Given the description of an element on the screen output the (x, y) to click on. 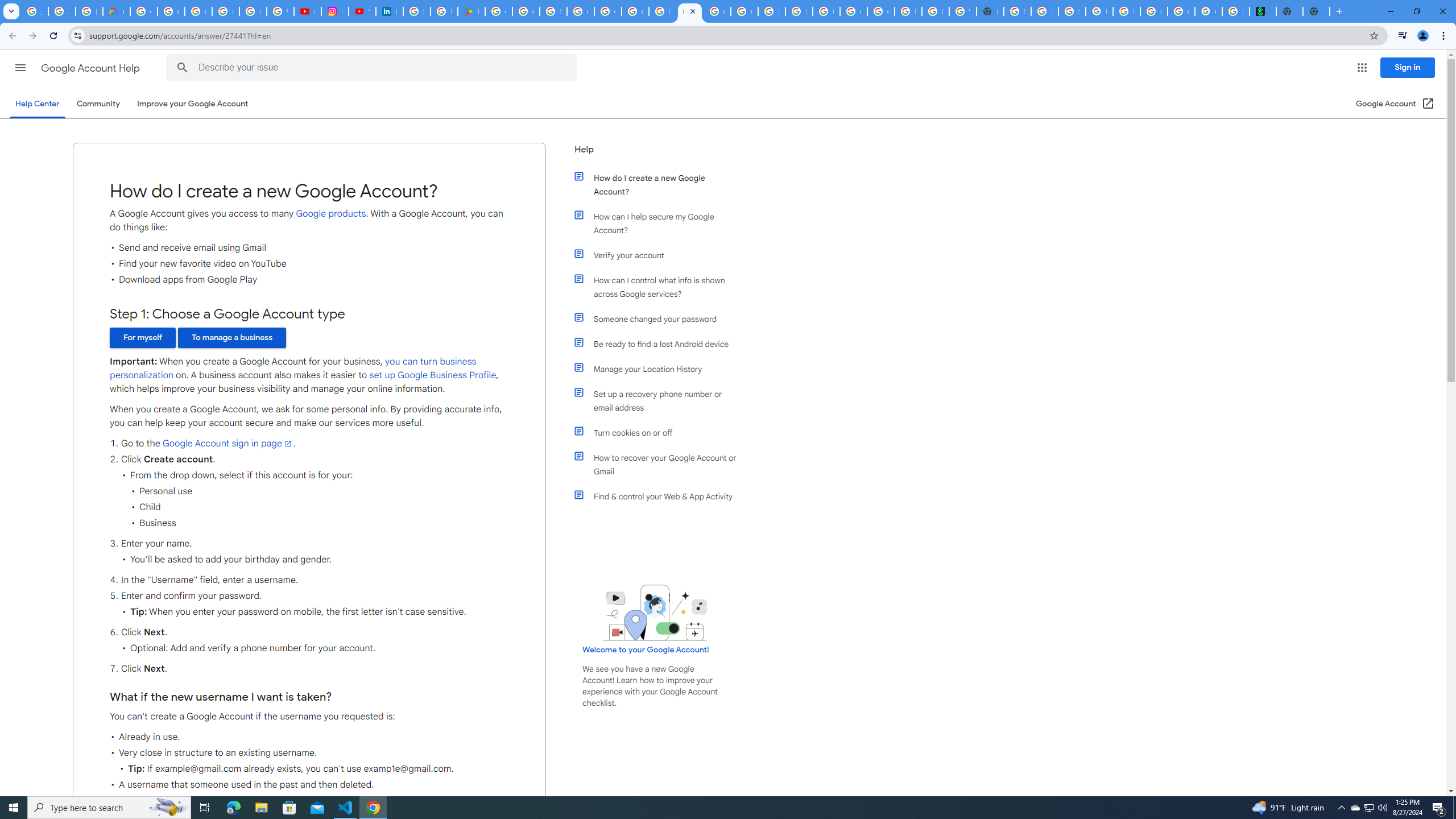
Sign in - Google Accounts (1017, 11)
Learning Center home page image (655, 612)
How can I control what info is shown across Google services? (661, 286)
New Tab (990, 11)
